Given the description of an element on the screen output the (x, y) to click on. 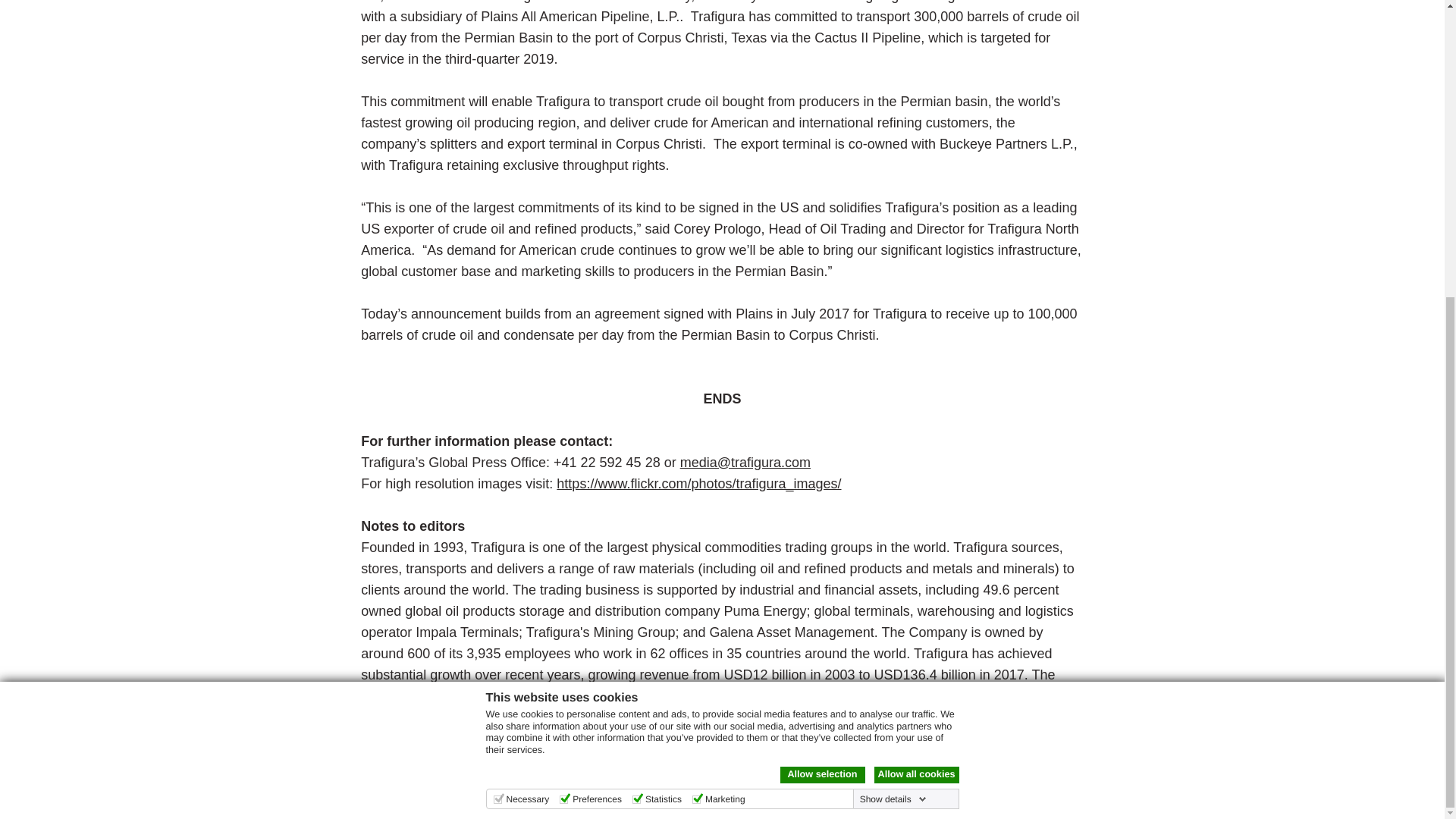
Show details (893, 340)
Allow all cookies (915, 316)
Allow selection (821, 316)
